Given the description of an element on the screen output the (x, y) to click on. 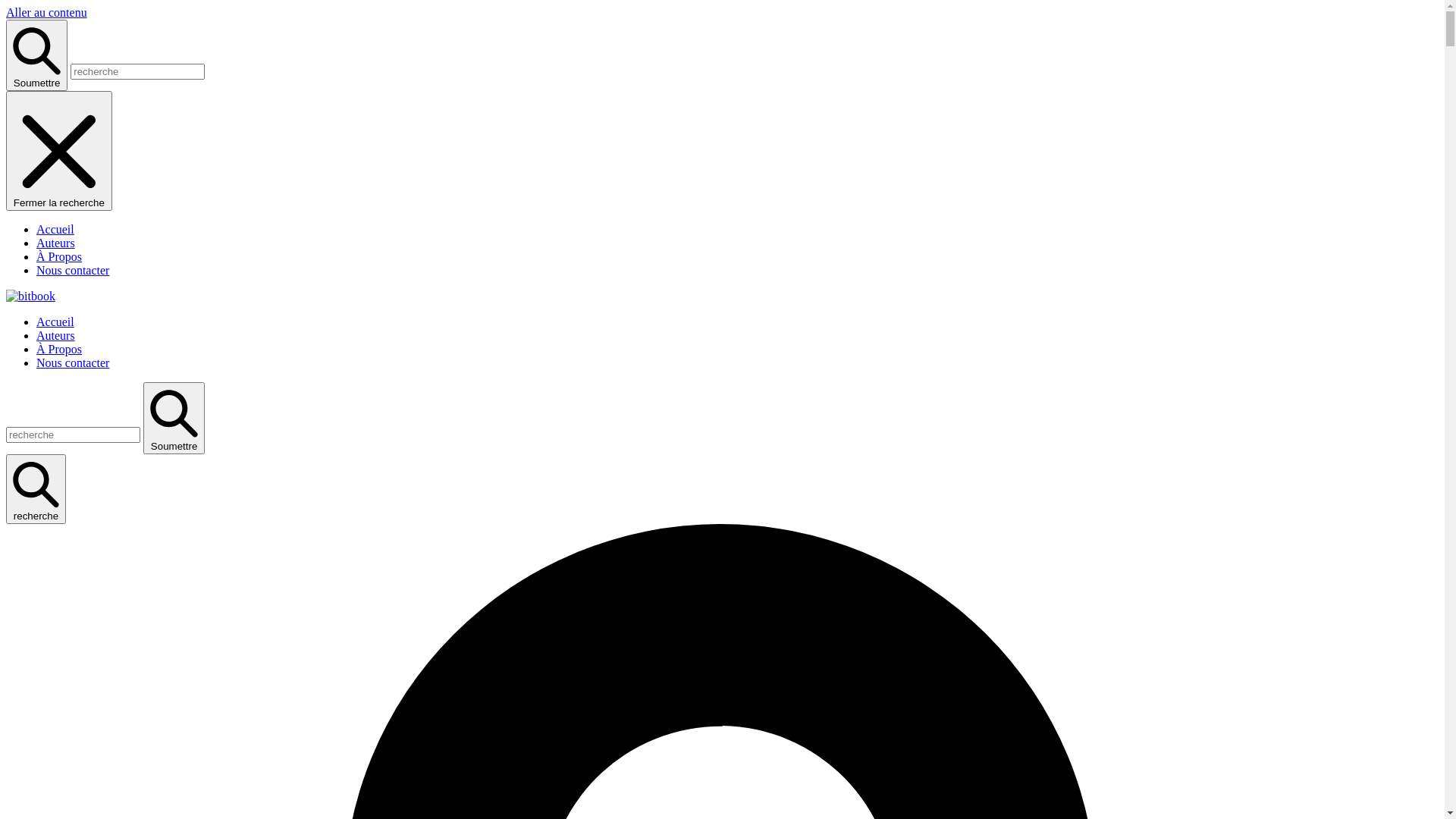
Auteurs Element type: text (55, 335)
Nous contacter Element type: text (72, 362)
Auteurs Element type: text (55, 242)
Fermer la recherche Element type: text (59, 150)
recherche Element type: text (35, 489)
Aller au contenu Element type: text (46, 12)
Soumettre Element type: text (173, 417)
Nous contacter Element type: text (72, 269)
Accueil Element type: text (55, 228)
Soumettre Element type: text (36, 55)
Accueil Element type: text (55, 321)
